Given the description of an element on the screen output the (x, y) to click on. 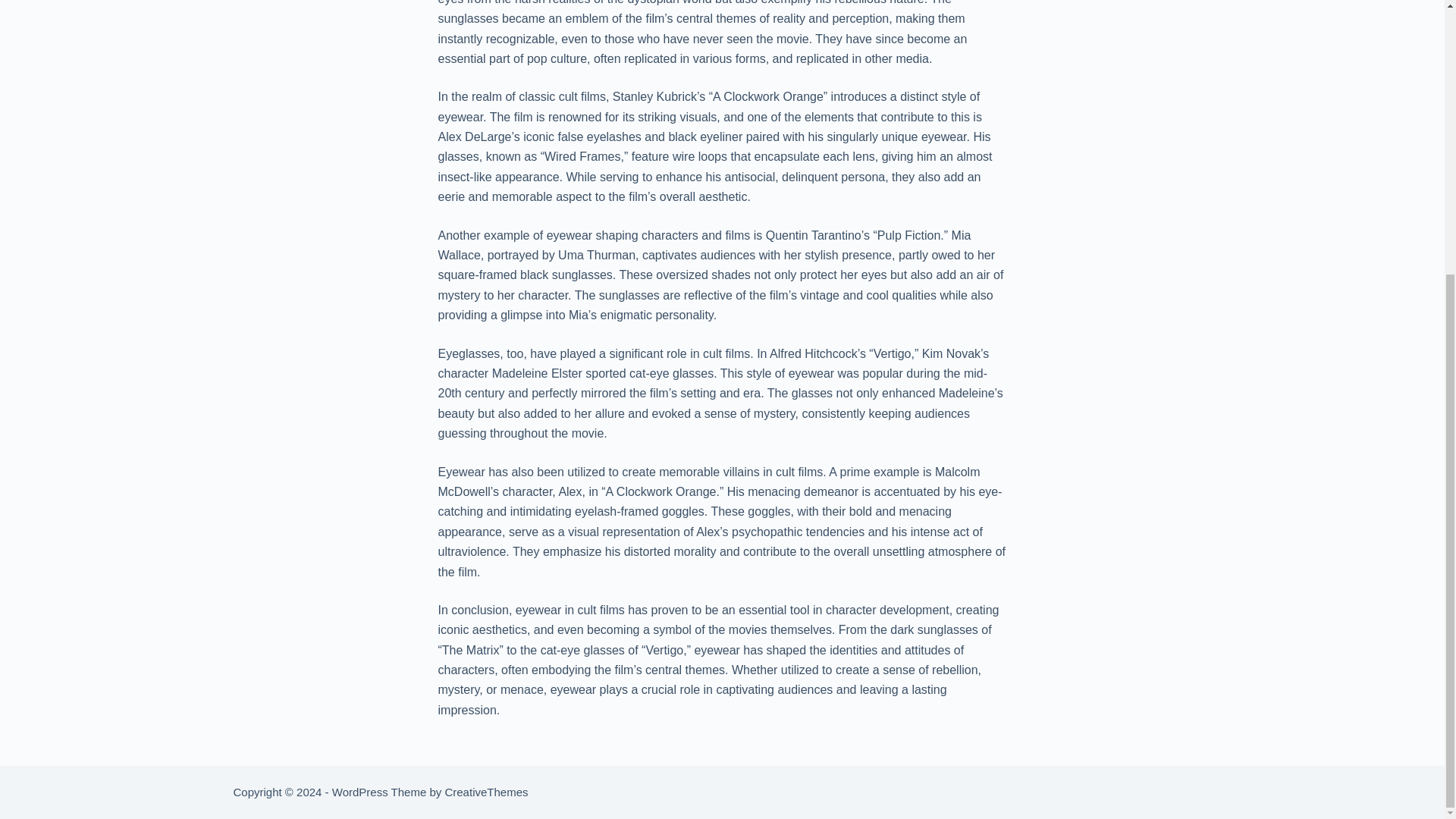
CreativeThemes (485, 791)
